Given the description of an element on the screen output the (x, y) to click on. 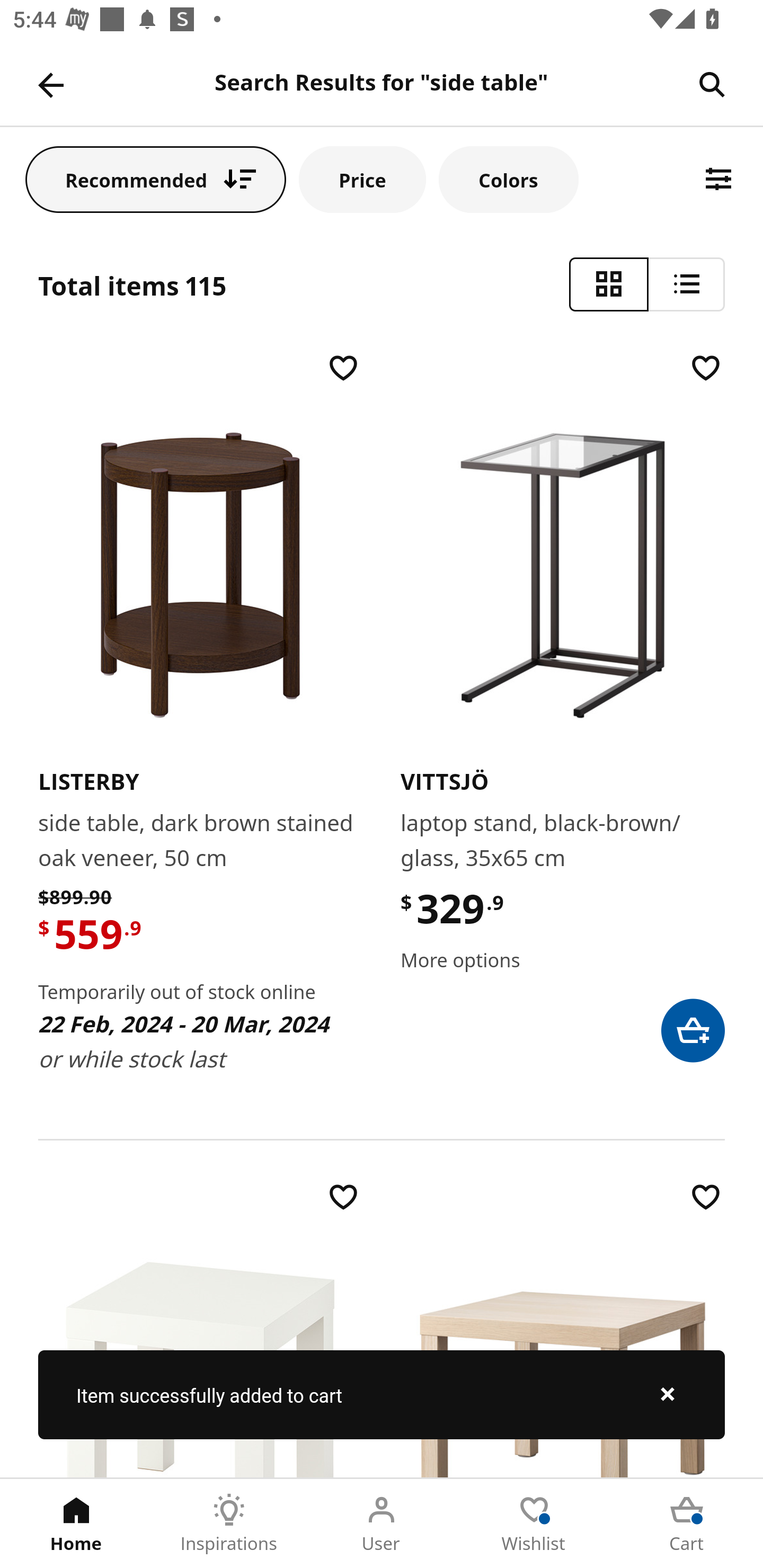
Recommended (155, 179)
Price (362, 179)
Colors (508, 179)
Item successfully added to cart (381, 1394)
Home
Tab 1 of 5 (76, 1522)
Inspirations
Tab 2 of 5 (228, 1522)
User
Tab 3 of 5 (381, 1522)
Wishlist
Tab 4 of 5 (533, 1522)
Cart
Tab 5 of 5 (686, 1522)
